Given the description of an element on the screen output the (x, y) to click on. 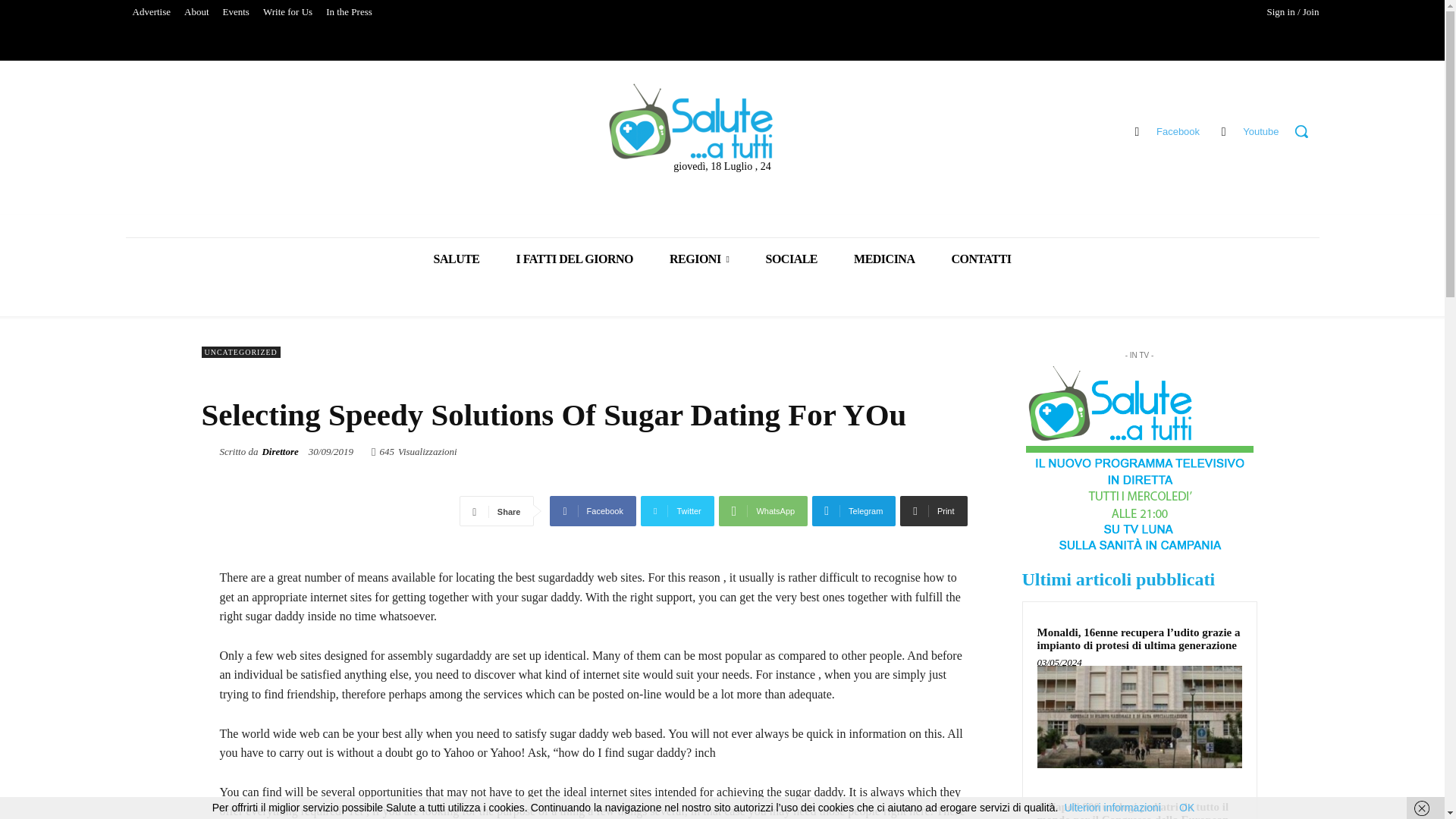
Facebook (593, 511)
Telegram (853, 511)
About (196, 12)
Advertise (151, 12)
Write for Us (287, 12)
Youtube (1222, 131)
Events (235, 12)
Print (932, 511)
Twitter (677, 511)
WhatsApp (763, 511)
Facebook (1136, 131)
In the Press (348, 12)
